Given the description of an element on the screen output the (x, y) to click on. 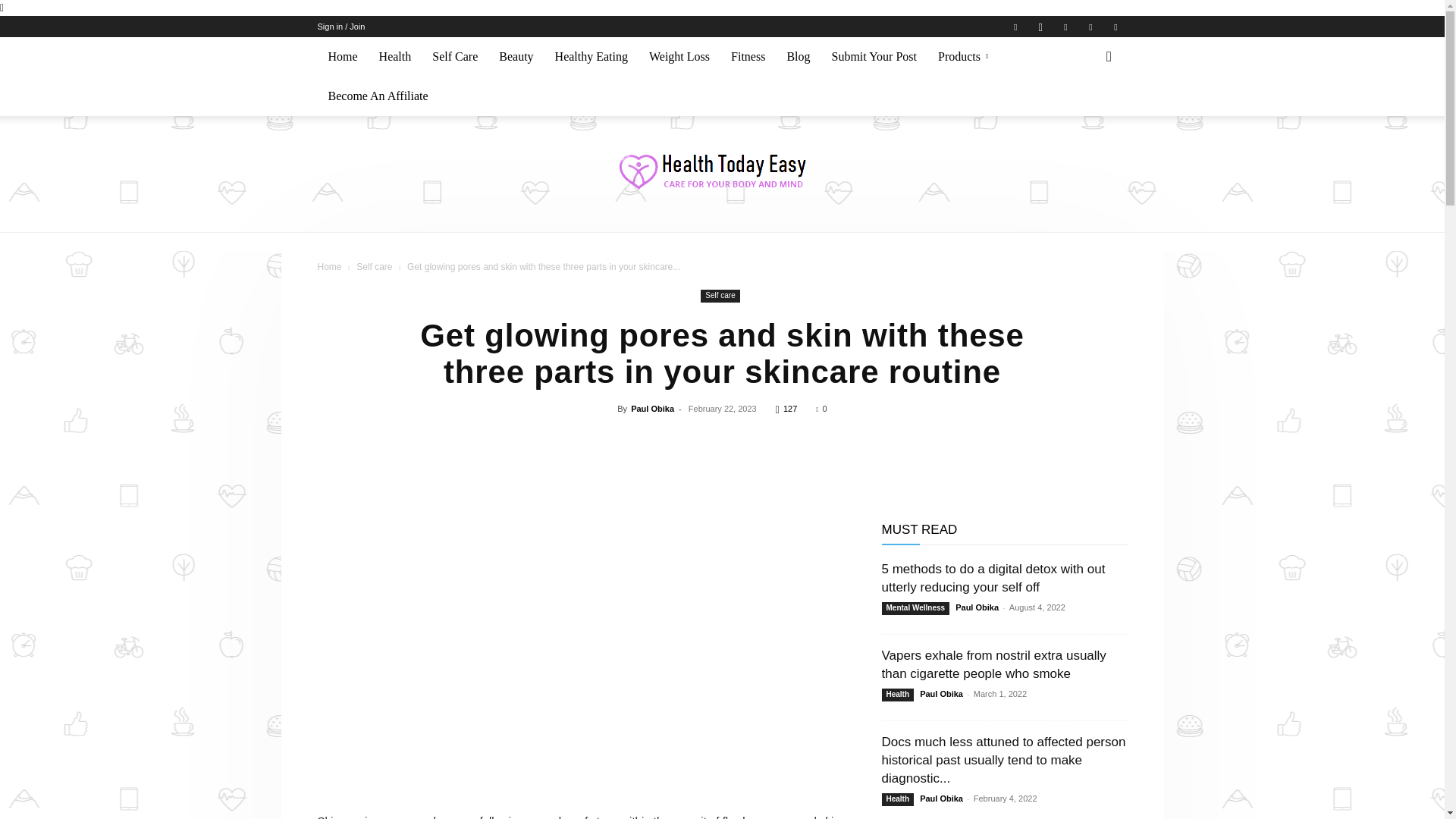
View all posts in Self care (373, 266)
Vimeo (1090, 25)
Facebook (1015, 25)
Youtube (1114, 25)
Health (395, 56)
Twitter (1065, 25)
Weight Loss (679, 56)
Self Care (454, 56)
Healthy Eating (591, 56)
Home (342, 56)
